Given the description of an element on the screen output the (x, y) to click on. 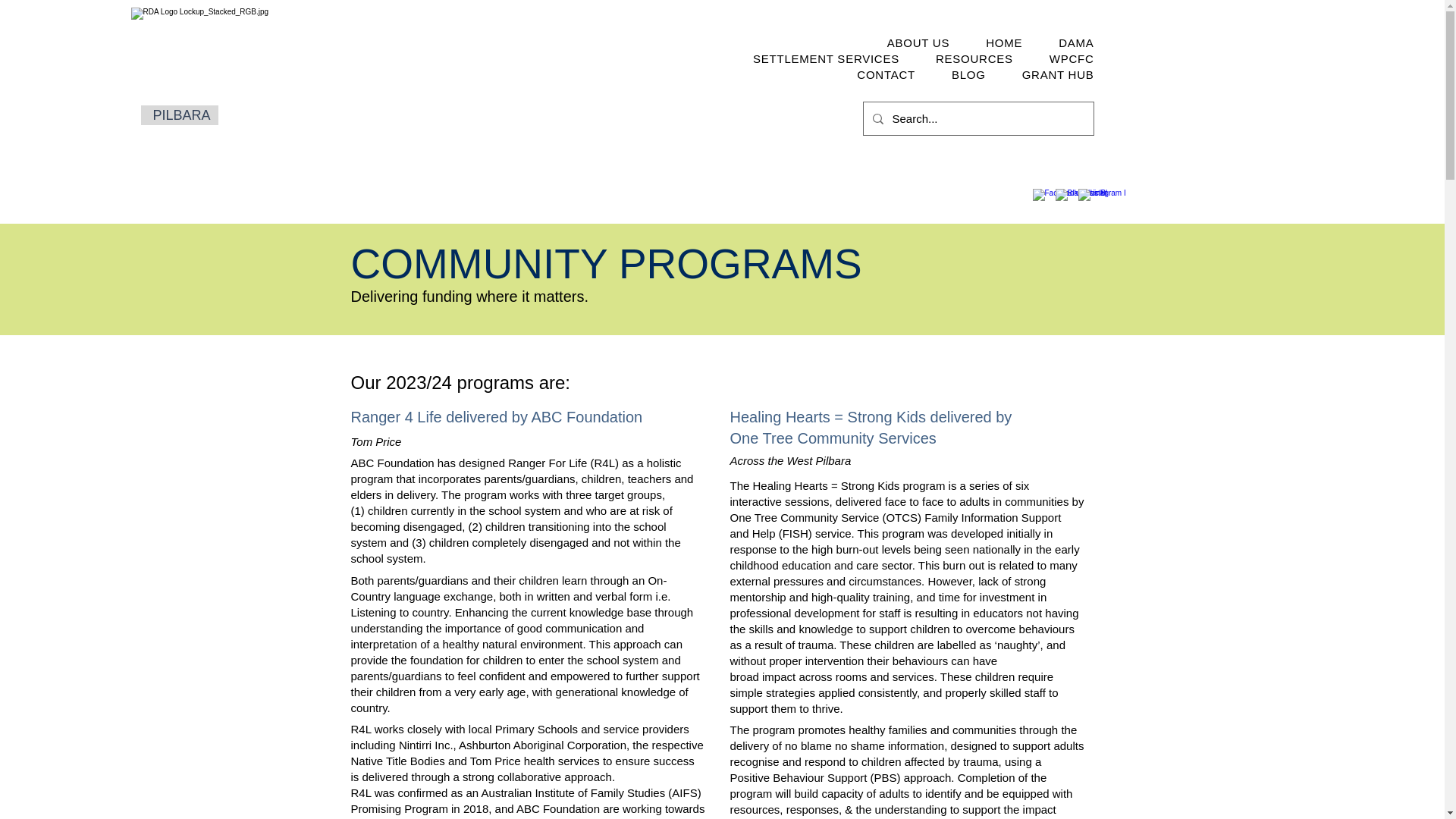
GRANT HUB (1058, 74)
ABOUT US (917, 42)
HOME (1003, 42)
CONTACT (886, 74)
WPCFC (1071, 58)
BLOG (968, 74)
SETTLEMENT SERVICES (825, 58)
DAMA (1075, 42)
